Given the description of an element on the screen output the (x, y) to click on. 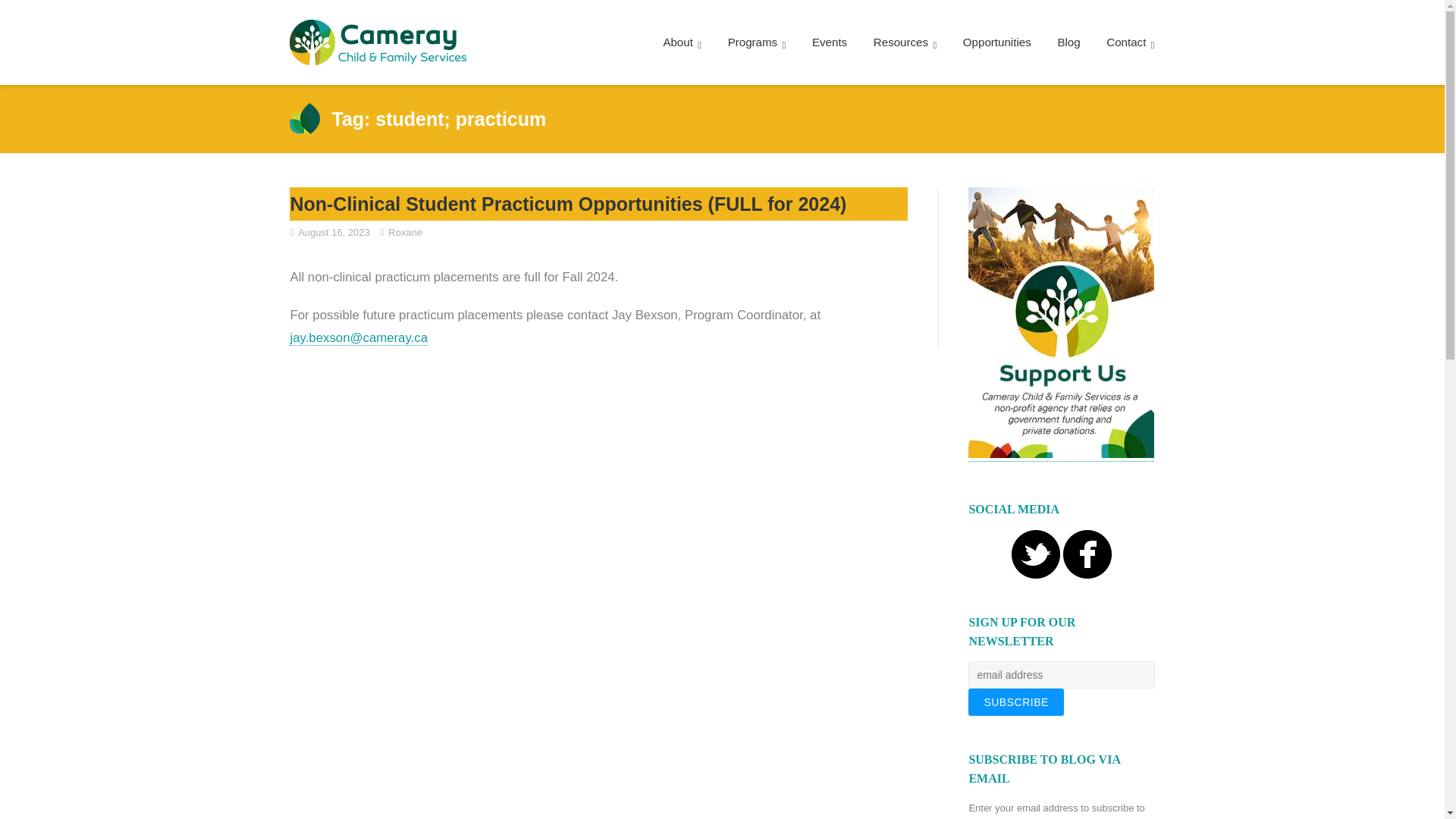
Subscribe (1015, 701)
Subscribe (1015, 701)
Programs (757, 42)
Contact (1130, 42)
August 16, 2023 (333, 231)
Events (829, 42)
About (681, 42)
Roxane (405, 231)
Opportunities (996, 42)
Blog (1068, 42)
Resources (904, 42)
